Given the description of an element on the screen output the (x, y) to click on. 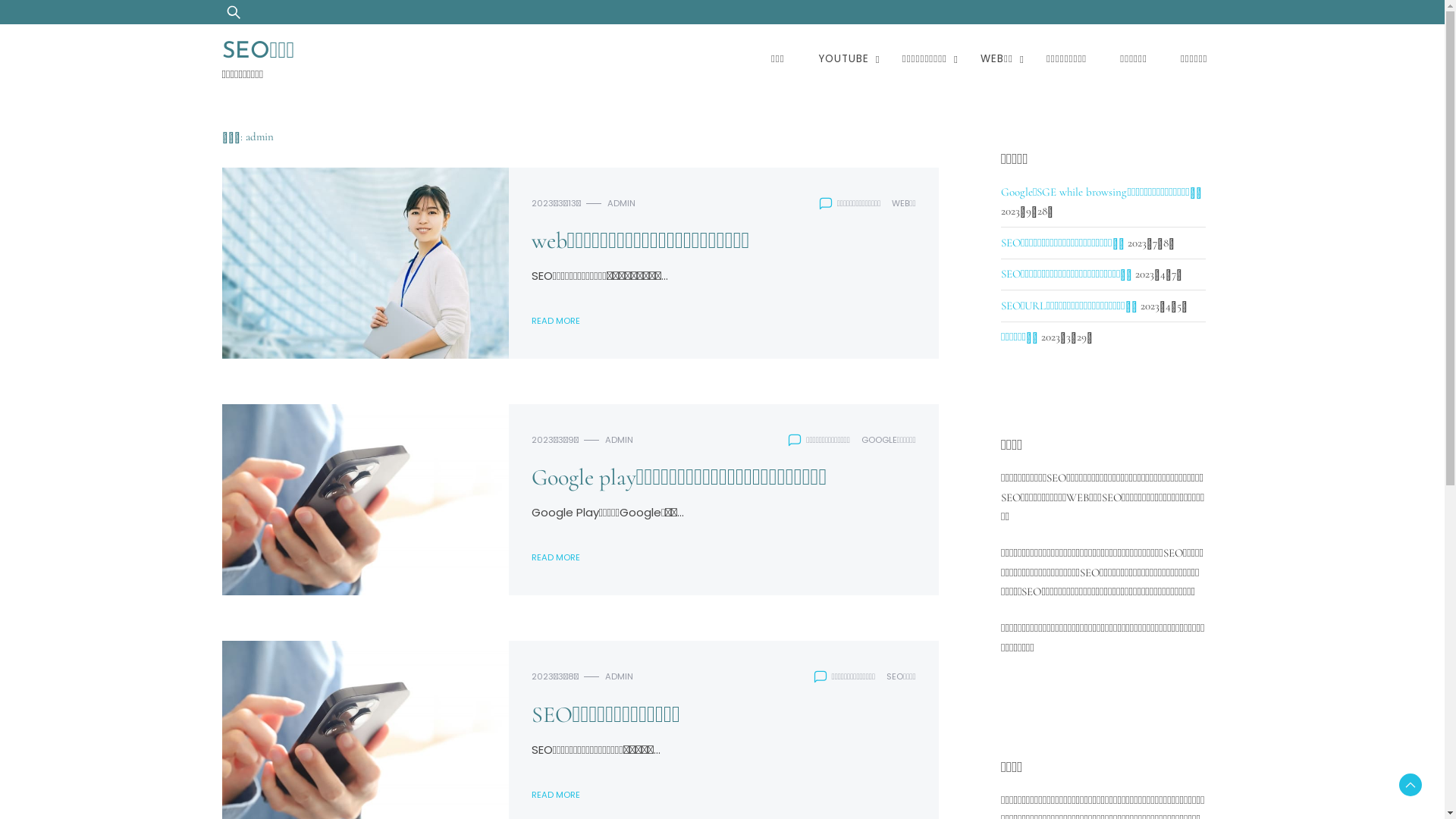
READ MORE Element type: text (554, 320)
ADMIN Element type: text (619, 676)
YOUTUBE Element type: text (843, 59)
READ MORE Element type: text (554, 557)
ADMIN Element type: text (619, 440)
ADMIN Element type: text (620, 202)
READ MORE Element type: text (554, 794)
